Given the description of an element on the screen output the (x, y) to click on. 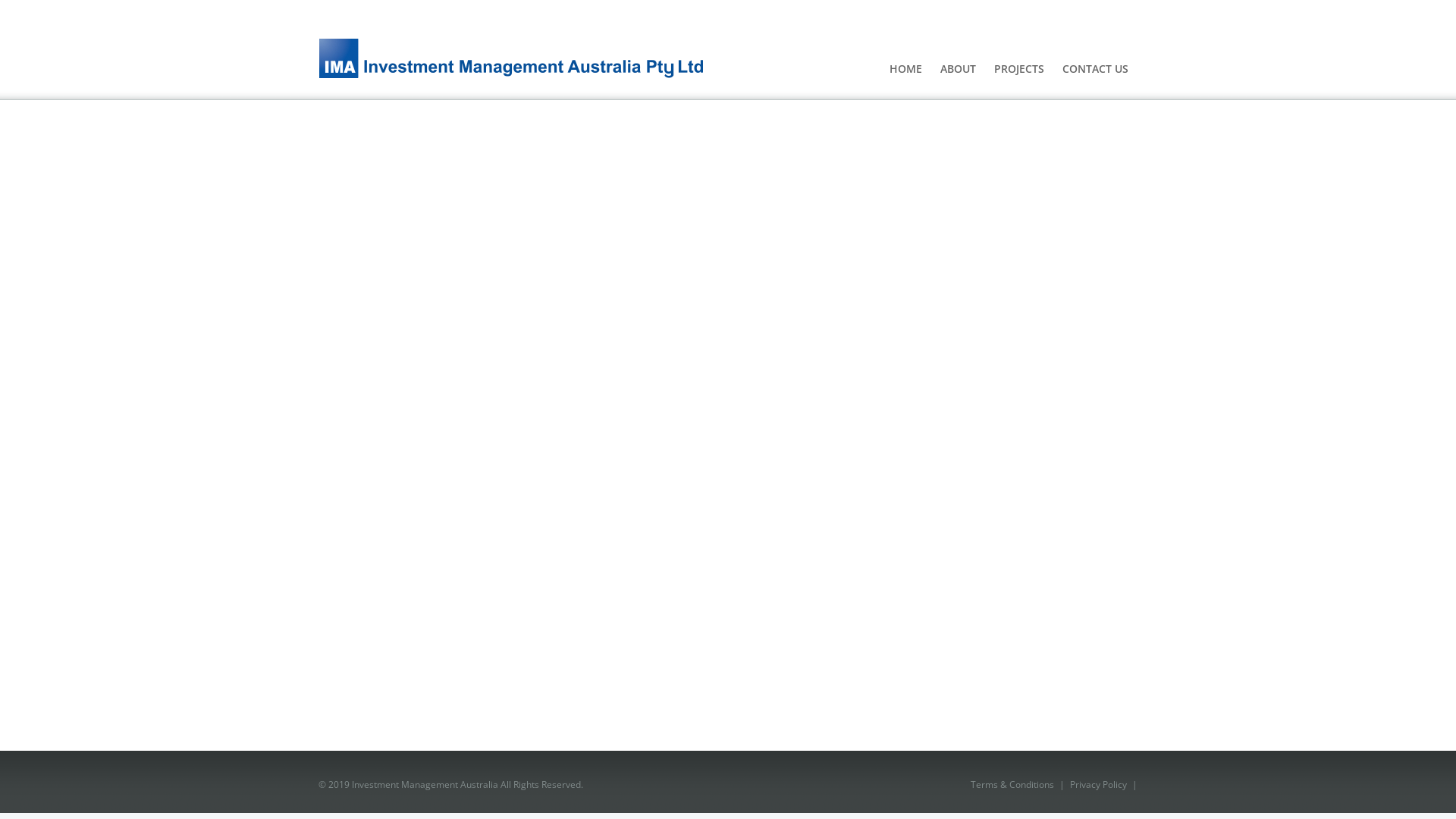
CONTACT US Element type: text (1095, 68)
ABOUT Element type: text (957, 68)
PROJECTS Element type: text (1019, 68)
Privacy Policy Element type: text (1098, 784)
Terms & Conditions Element type: text (1012, 784)
HOME Element type: text (905, 68)
